Given the description of an element on the screen output the (x, y) to click on. 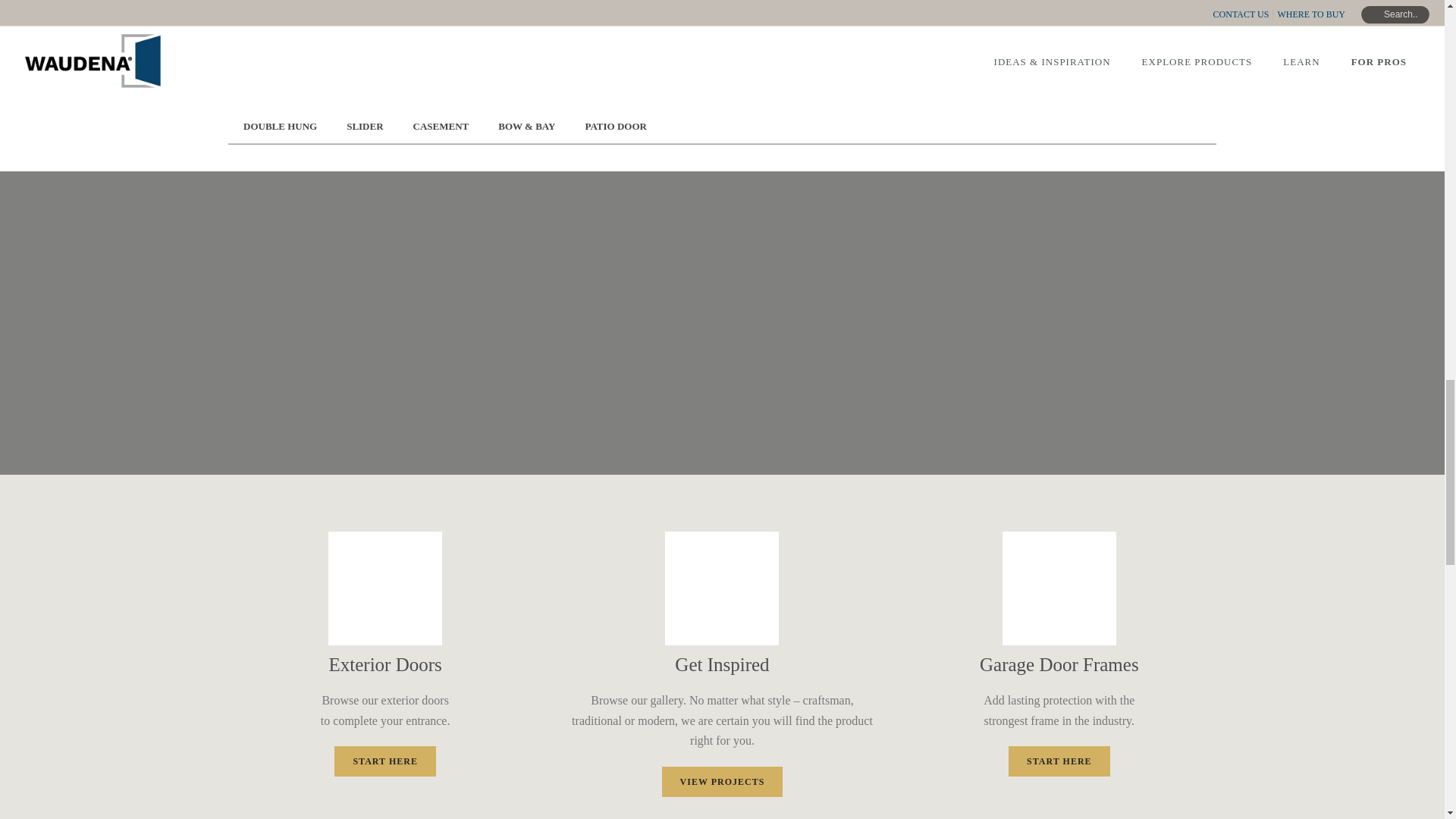
START HERE (1059, 761)
VIEW PROJECTS (722, 781)
START HERE (384, 761)
